Given the description of an element on the screen output the (x, y) to click on. 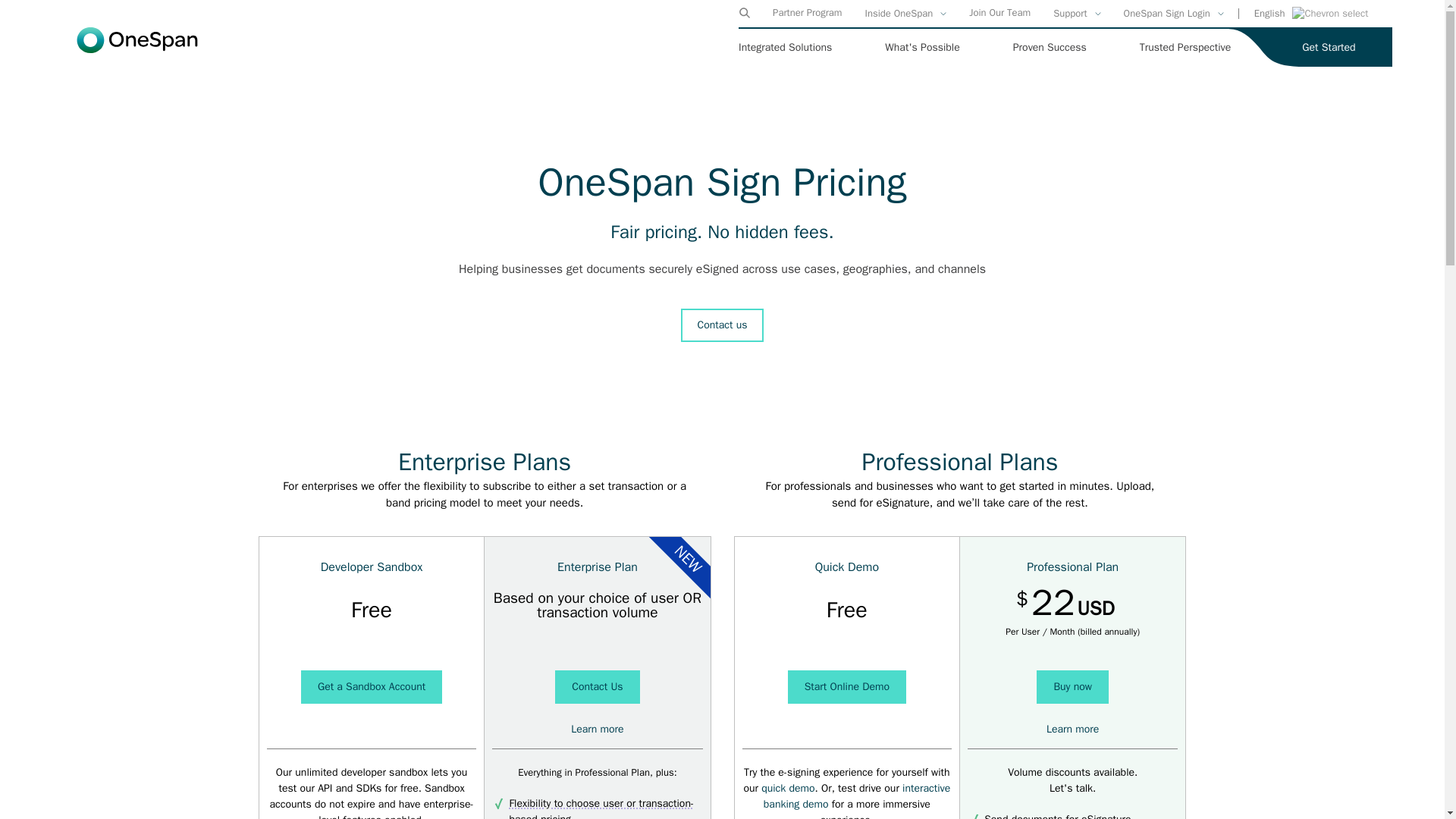
E-signatures Professional Plan (1072, 728)
Quick Demo (787, 788)
OneSpan Sign Enterprise Plan Electronic Signatures (596, 728)
Integrated Solutions (784, 47)
Join Our Team (999, 11)
Partner Program (807, 11)
